Given the description of an element on the screen output the (x, y) to click on. 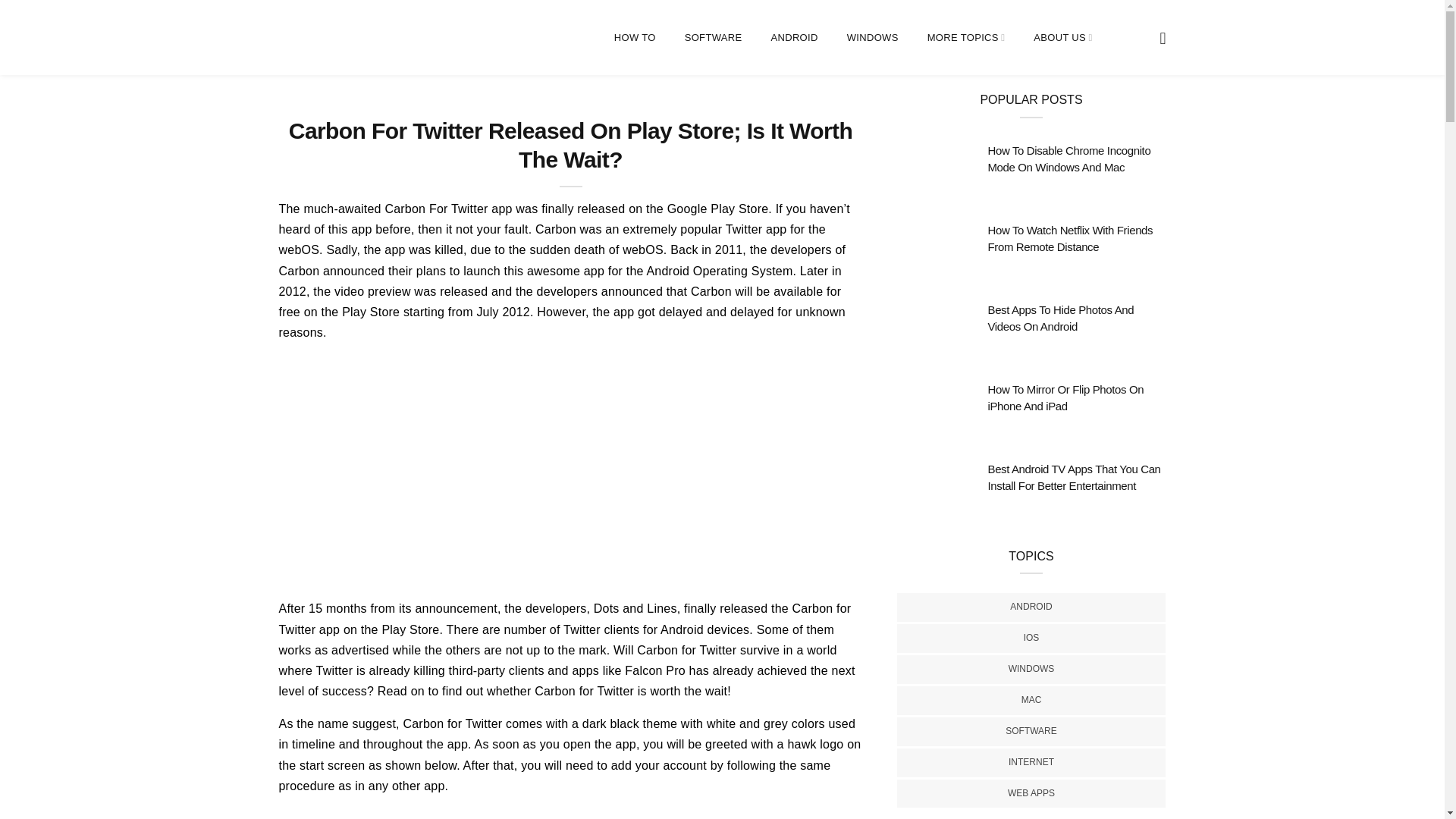
About Us (966, 37)
ANDROID (793, 37)
HOW TO (635, 37)
How To Watch Netflix With Friends From Remote Distance (1070, 238)
WINDOWS (872, 37)
Best Apps To Hide Photos And Videos On Android (1060, 318)
How To Disable Chrome Incognito Mode On Windows And Mac (1068, 159)
MORE TOPICS (966, 37)
SOFTWARE (713, 37)
ABOUT US (1062, 37)
